Given the description of an element on the screen output the (x, y) to click on. 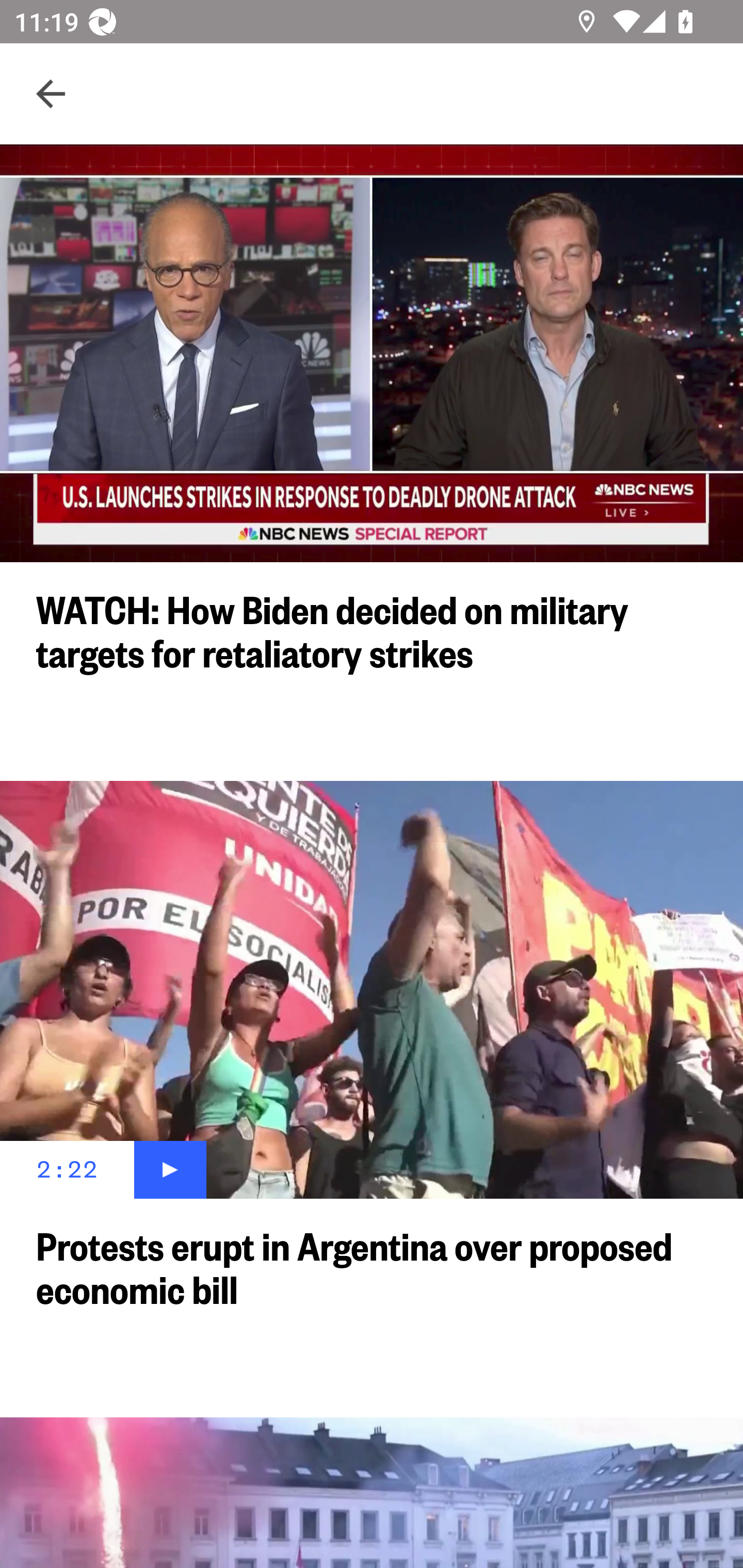
Navigate up (50, 93)
